Given the description of an element on the screen output the (x, y) to click on. 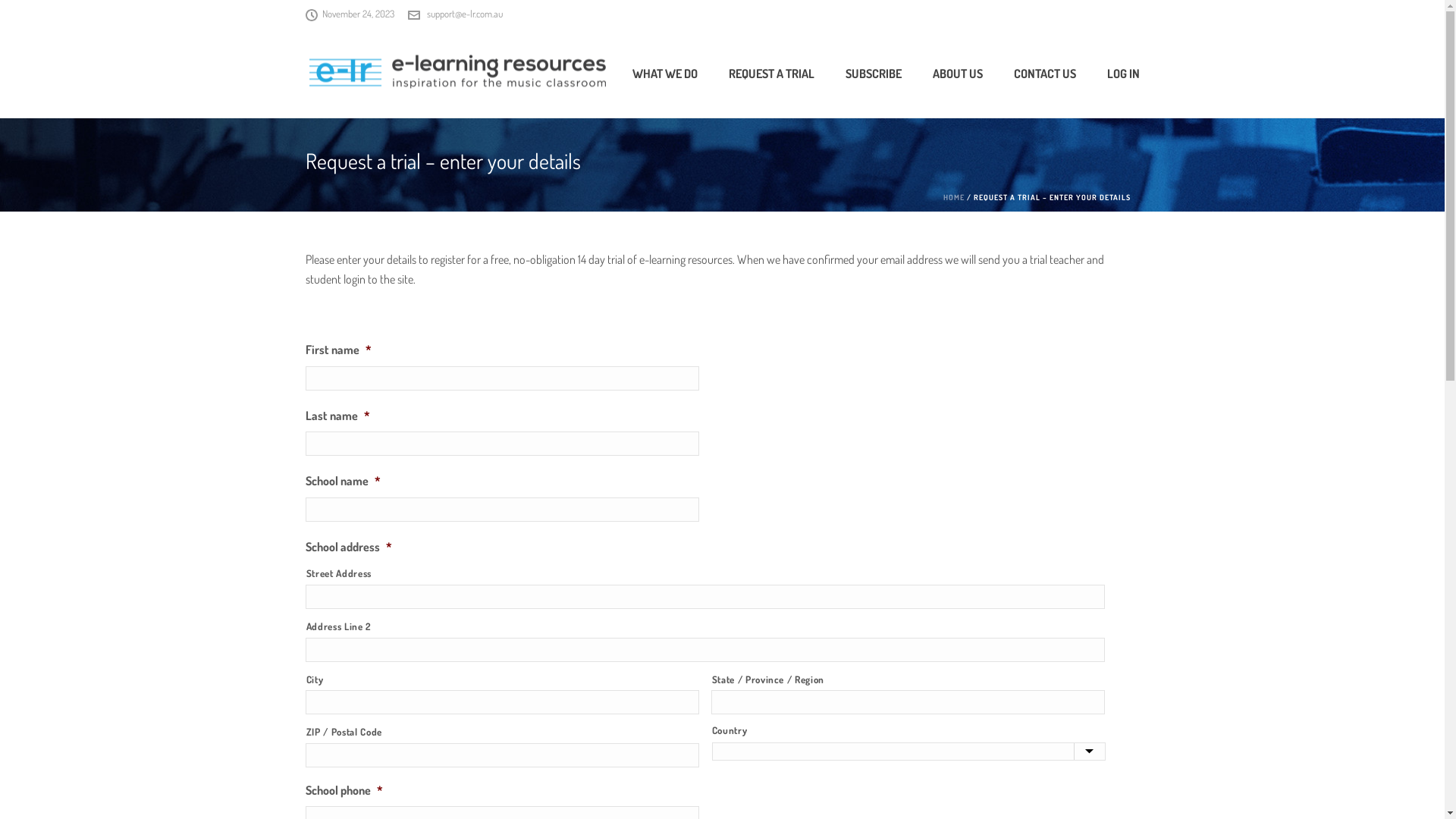
WHAT WE DO Element type: text (664, 71)
ABOUT US Element type: text (957, 71)
HOME Element type: text (953, 196)
LOG IN Element type: text (1123, 71)
support@e-lr.com.au Element type: text (464, 13)
CONTACT US Element type: text (1043, 71)
Inspiration for the music classroom Element type: hover (456, 72)
SUBSCRIBE Element type: text (872, 71)
REQUEST A TRIAL Element type: text (770, 71)
